Given the description of an element on the screen output the (x, y) to click on. 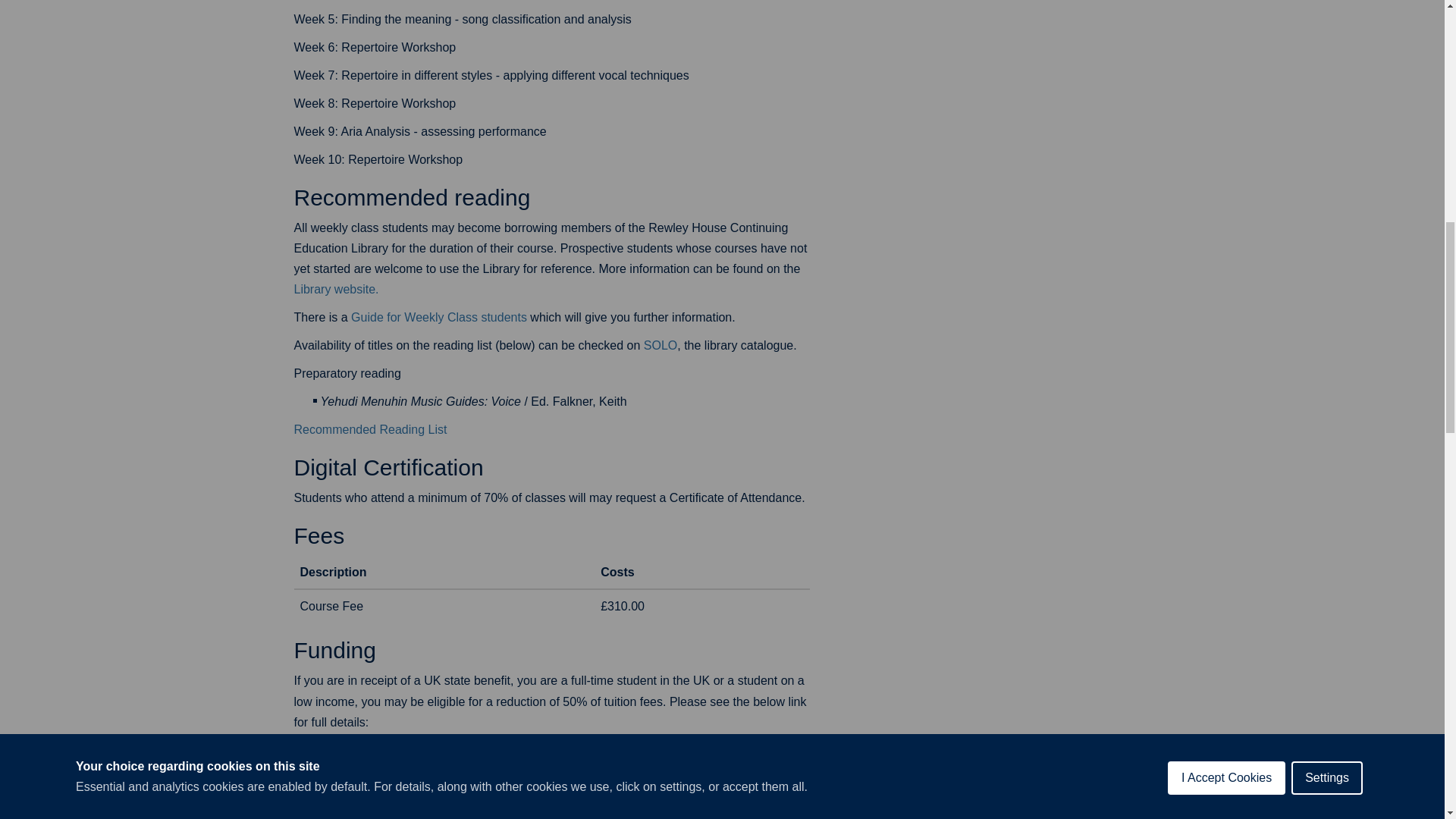
Settings (1326, 32)
I Accept Cookies (1226, 37)
